Given the description of an element on the screen output the (x, y) to click on. 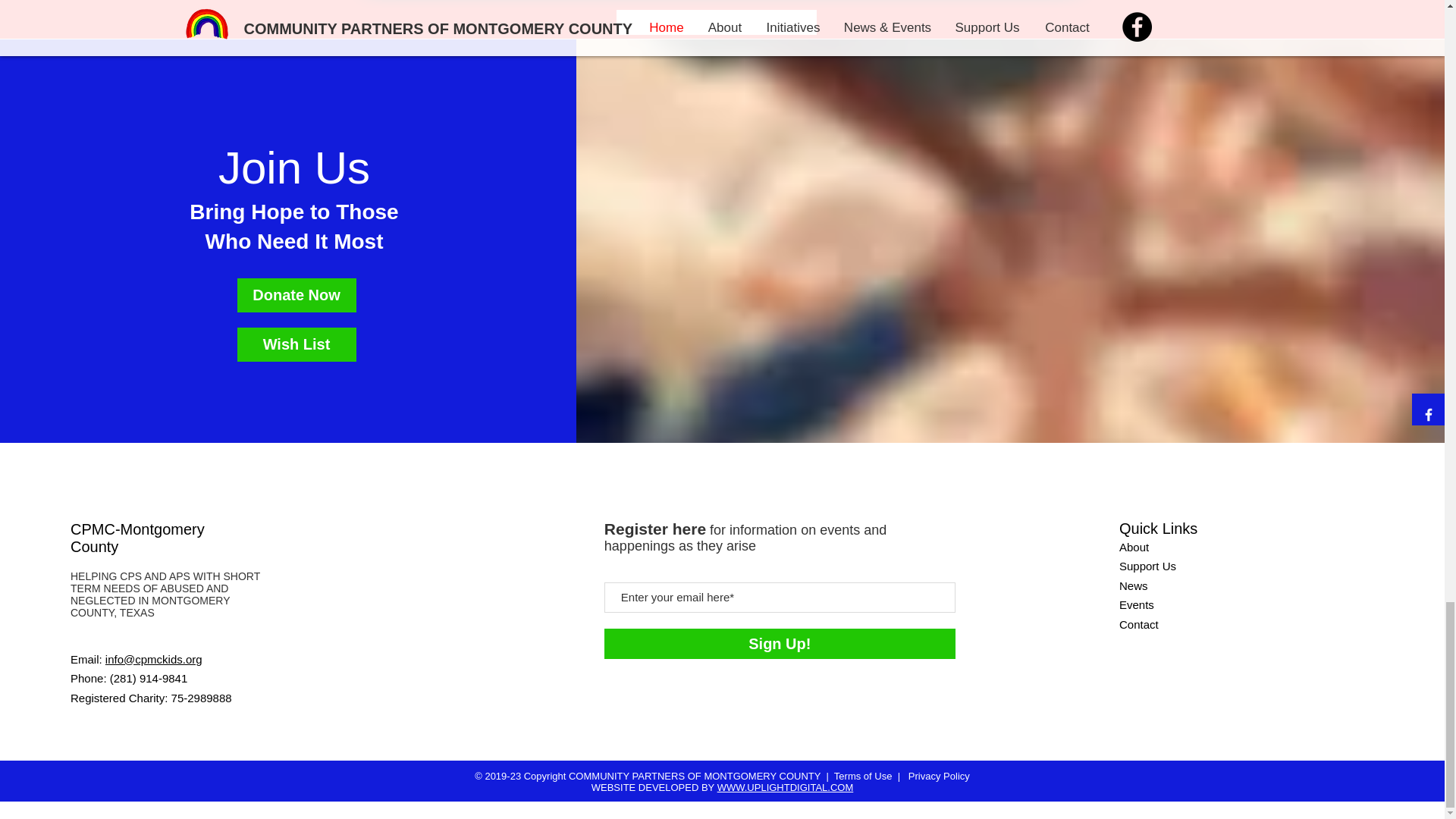
About (1133, 546)
Wish List (296, 344)
Sign Up! (779, 643)
Donate Now (296, 295)
